Given the description of an element on the screen output the (x, y) to click on. 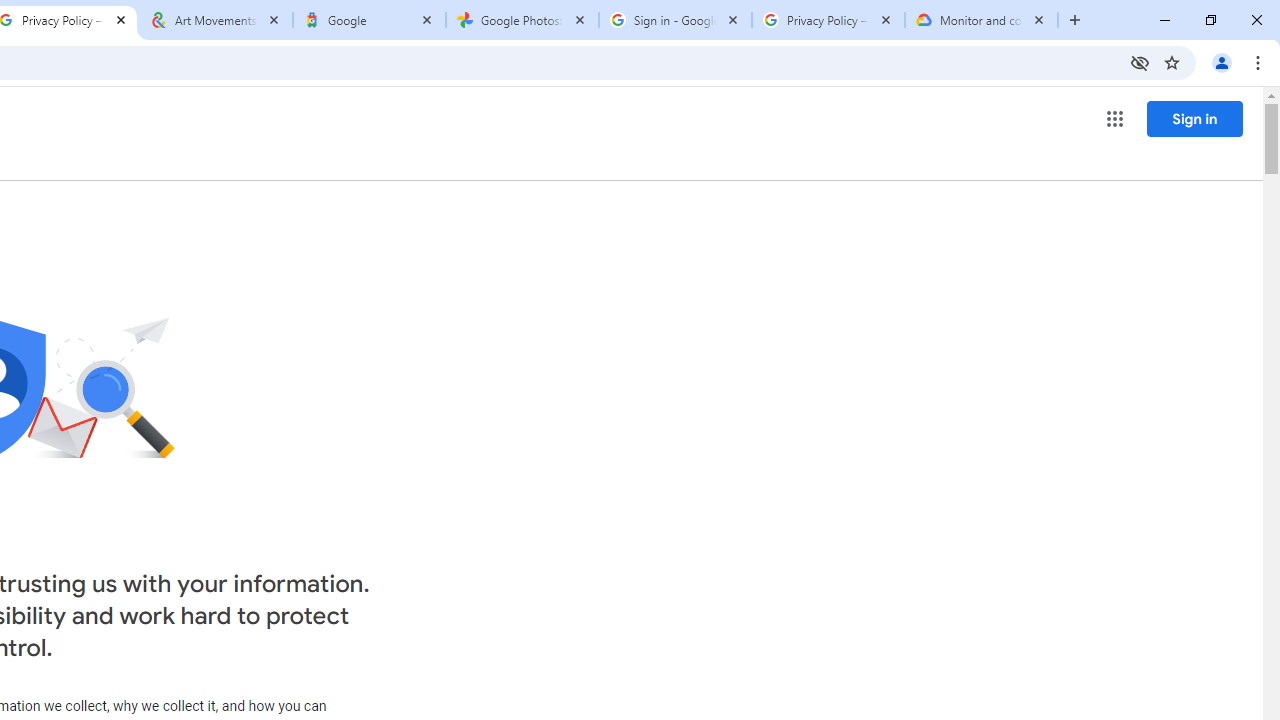
Google (369, 20)
Sign in - Google Accounts (675, 20)
